Given the description of an element on the screen output the (x, y) to click on. 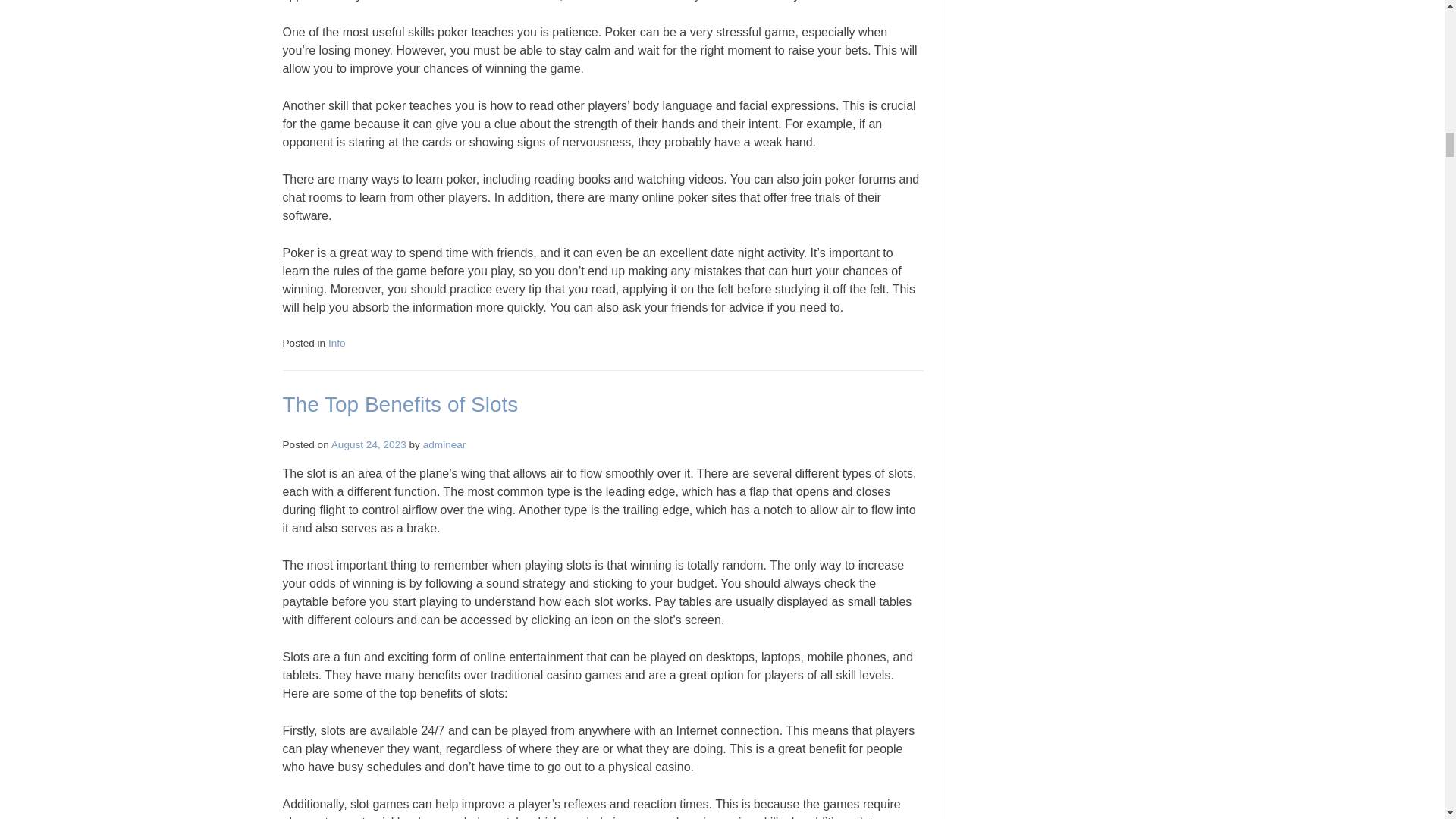
adminear (444, 444)
The Top Benefits of Slots (400, 404)
Info (337, 342)
August 24, 2023 (368, 444)
